Given the description of an element on the screen output the (x, y) to click on. 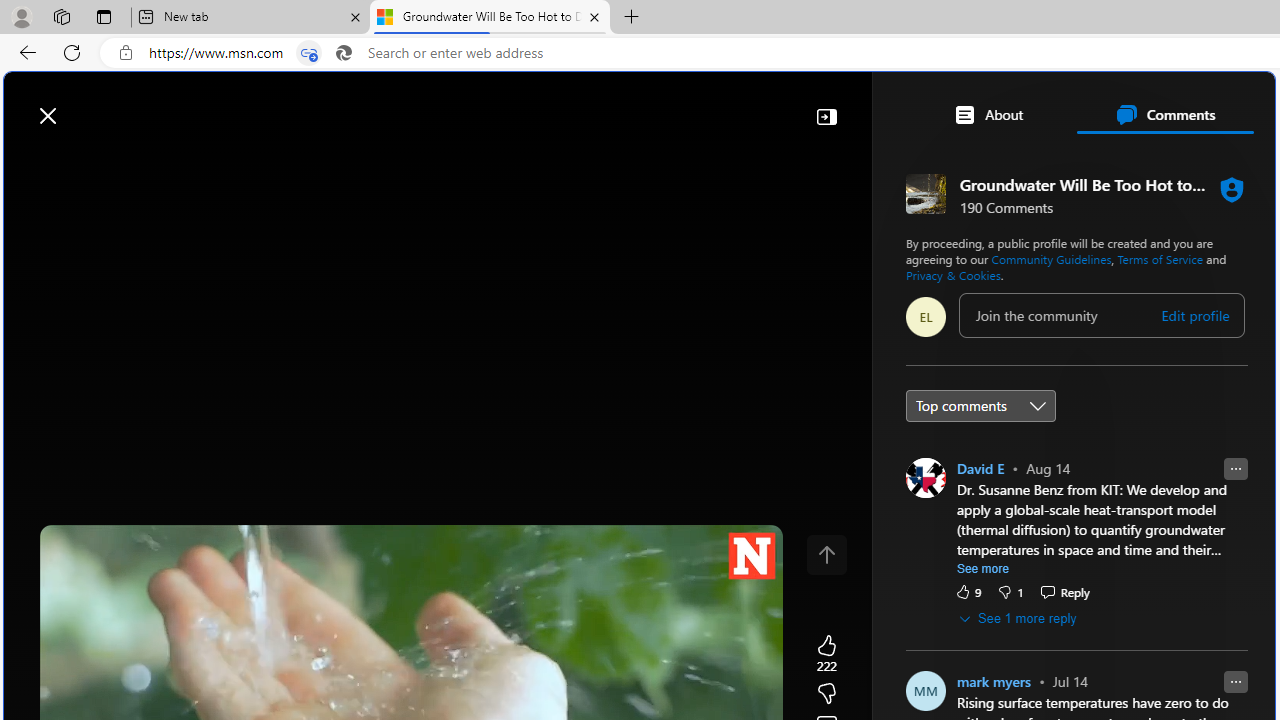
Open navigation menu (29, 162)
Enter your search term (644, 106)
Dislike (1010, 591)
Profile Picture (924, 690)
comment-box (1101, 314)
Watch (249, 162)
Skip to content (86, 105)
Microsoft rewards (1151, 105)
Profile Picture (924, 477)
